Given the description of an element on the screen output the (x, y) to click on. 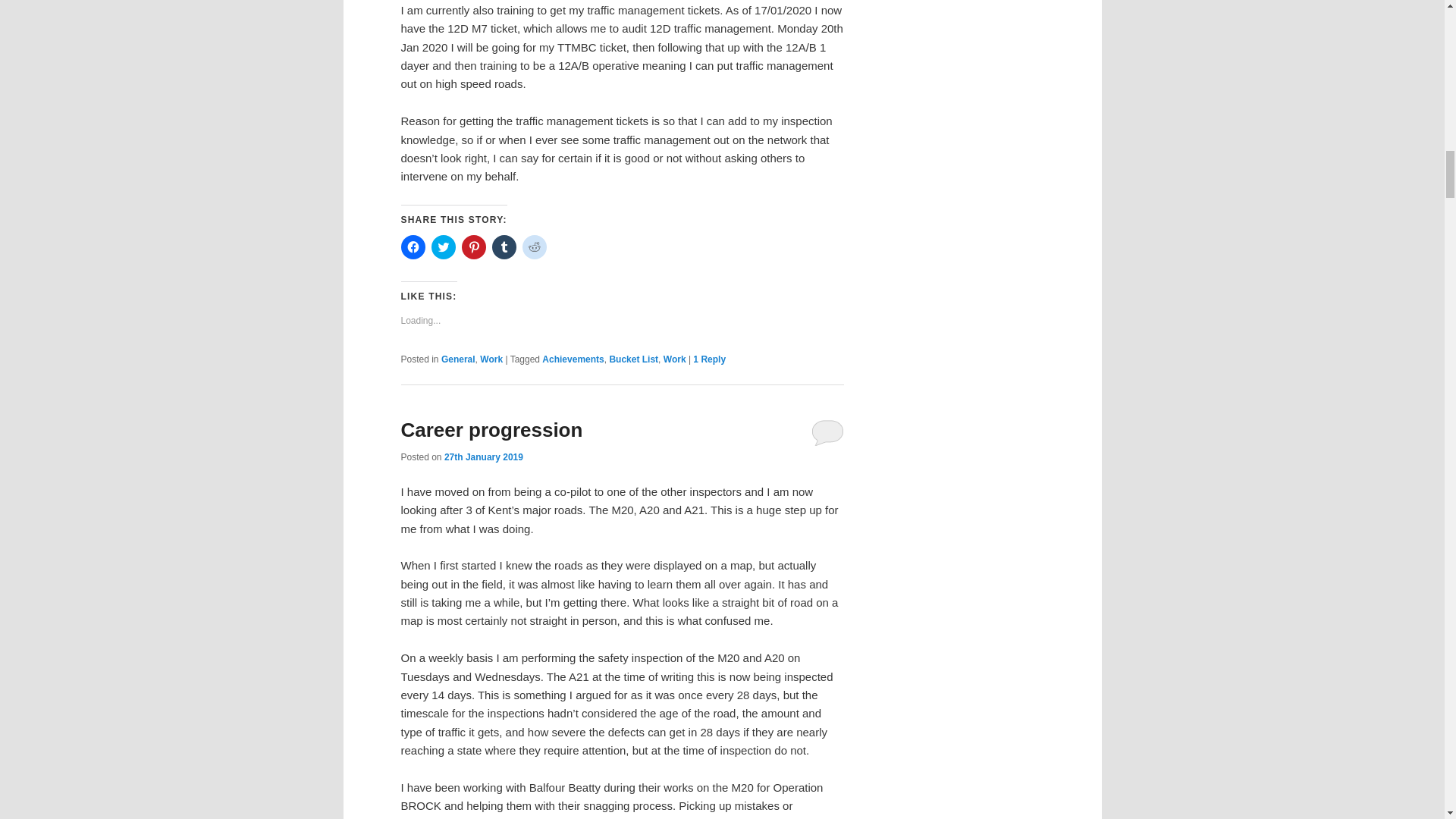
Click to share on Pinterest (472, 247)
Click to share on Facebook (412, 247)
Click to share on Twitter (442, 247)
